Given the description of an element on the screen output the (x, y) to click on. 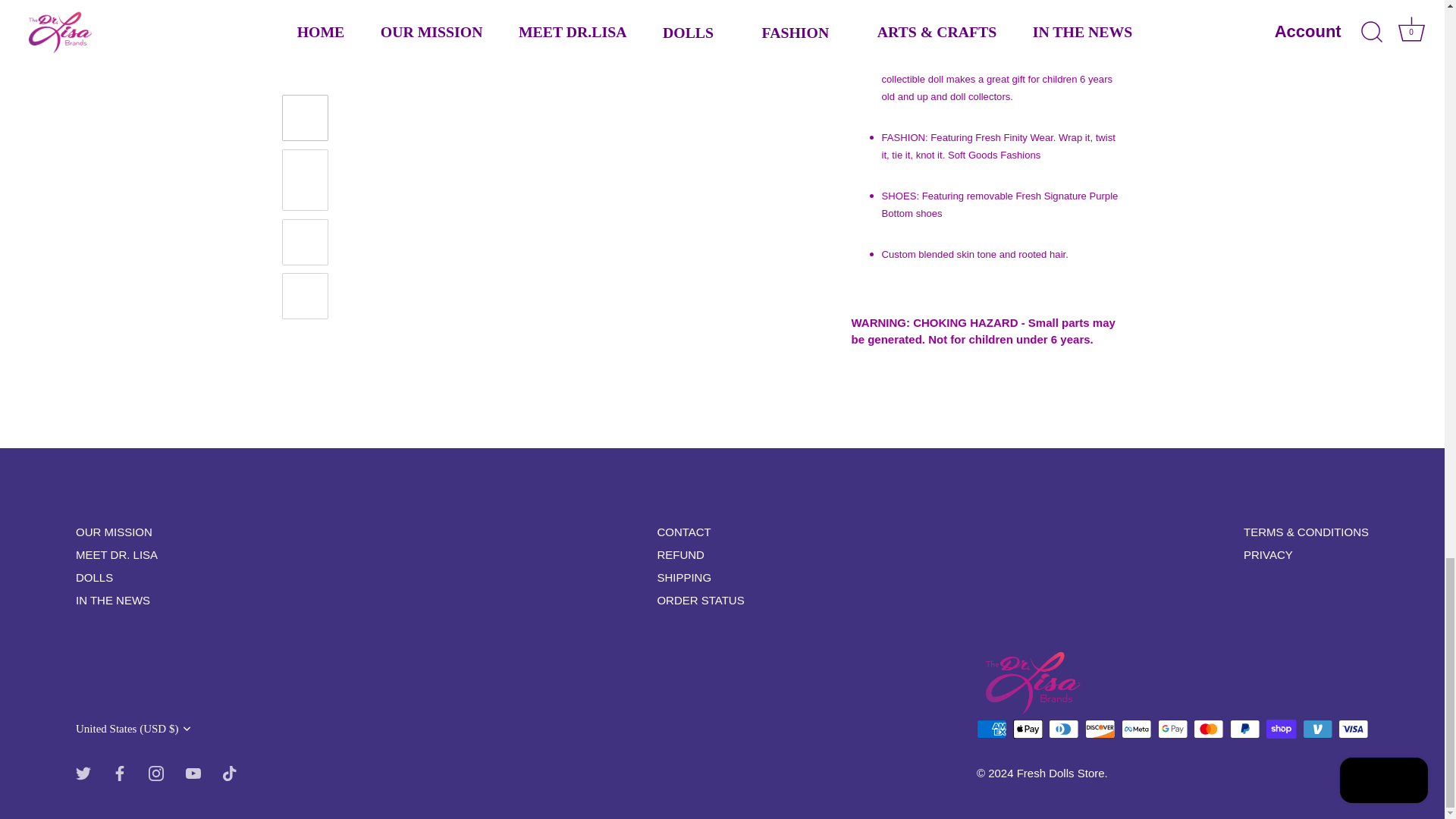
Diners Club (1063, 728)
Venmo (1317, 728)
Meta Pay (1136, 728)
Mastercard (1208, 728)
American Express (991, 728)
Shop Pay (1280, 728)
Google Pay (1172, 728)
Discover (1099, 728)
Apple Pay (1027, 728)
Twitter (82, 773)
